Given the description of an element on the screen output the (x, y) to click on. 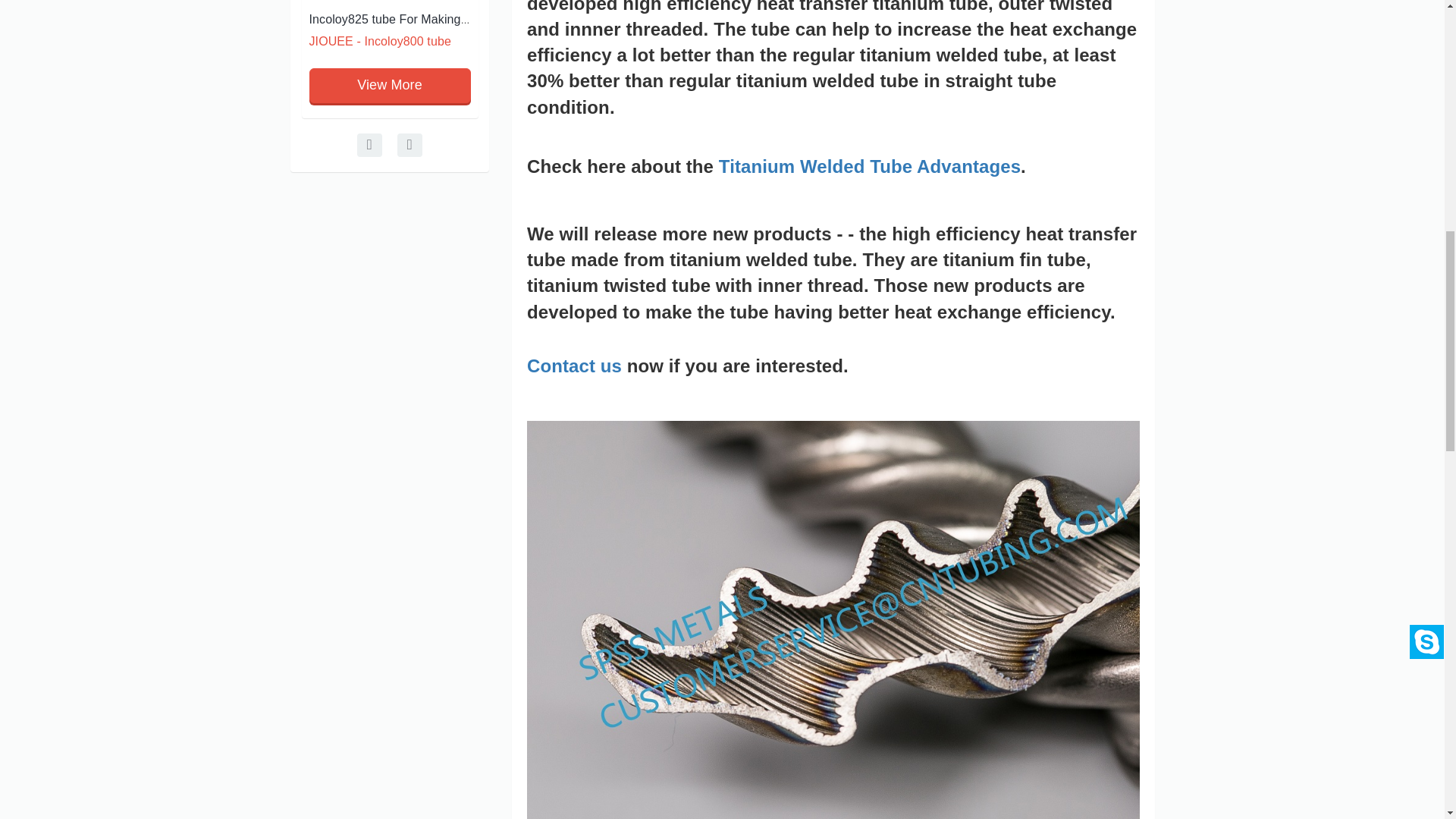
Hastelloy C276 tube For Making Heat Exchanger (242, 19)
View More (389, 85)
Incoloy825 tube For Making Heating Elements (434, 19)
Hastelloy C276 TUBE,Nickel Alloy Tube (242, 19)
